Given the description of an element on the screen output the (x, y) to click on. 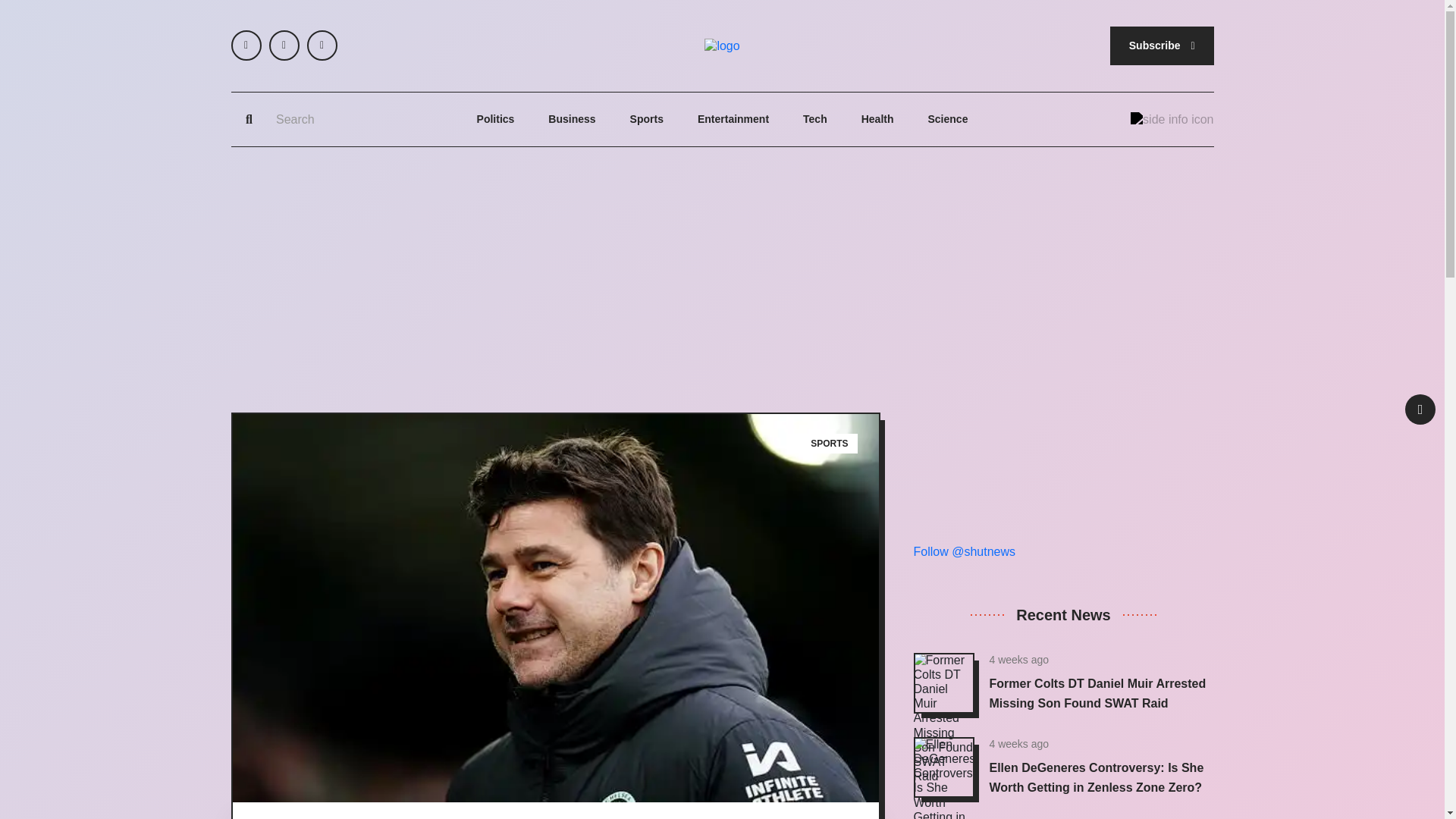
Entertainment (732, 119)
SPORTS (829, 443)
Subscribe (1161, 45)
